Given the description of an element on the screen output the (x, y) to click on. 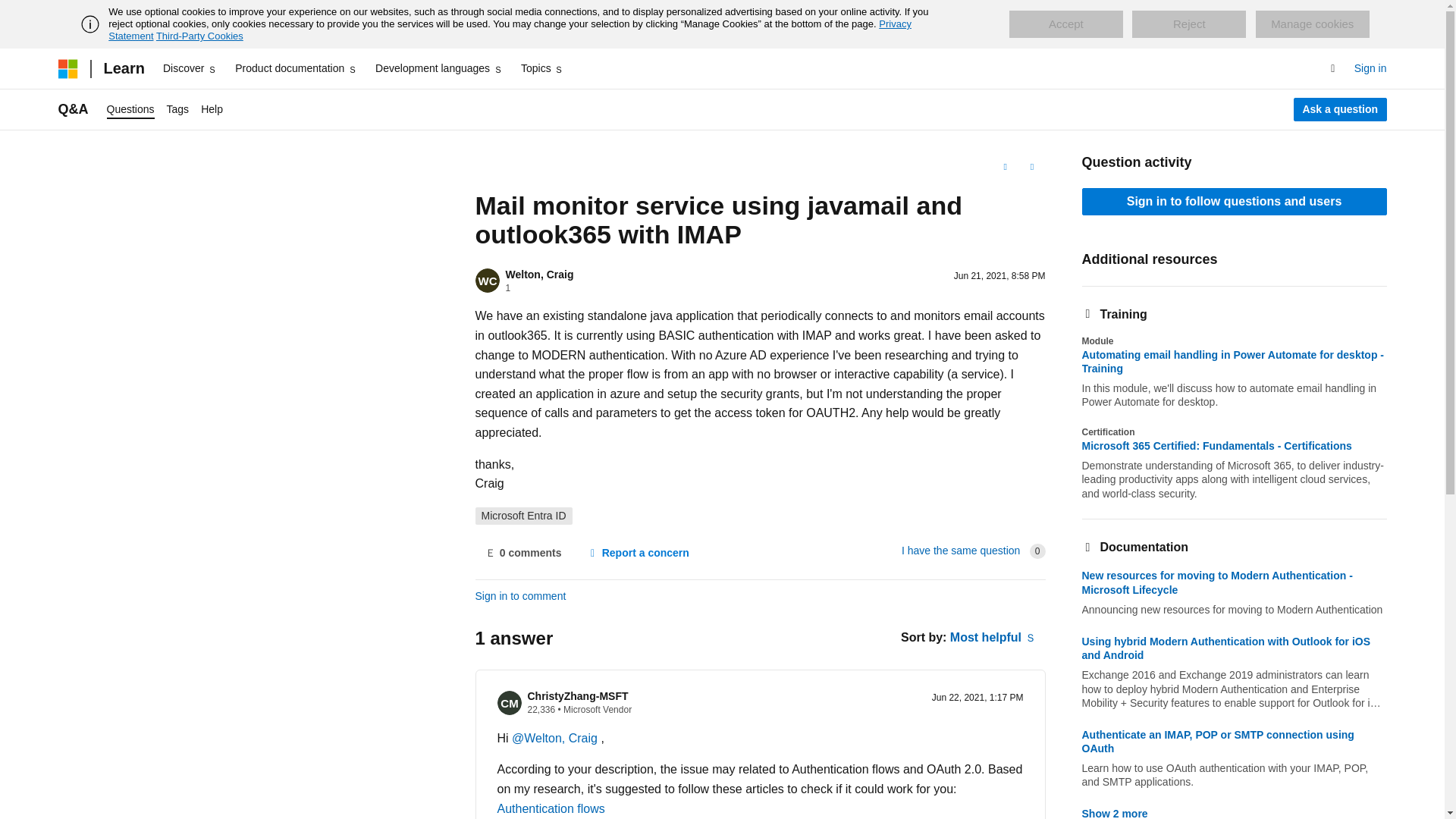
Help (211, 109)
Manage cookies (1312, 23)
Reputation points (541, 709)
Third-Party Cookies (199, 35)
Skip to main content (11, 11)
Share this question (1031, 166)
Accept (1065, 23)
Sign in (1370, 68)
No comments (522, 553)
Report a concern (637, 553)
Welton, Craig (539, 274)
Reputation points (508, 287)
Ask a question (1340, 109)
Product documentation (295, 68)
Development languages (438, 68)
